Given the description of an element on the screen output the (x, y) to click on. 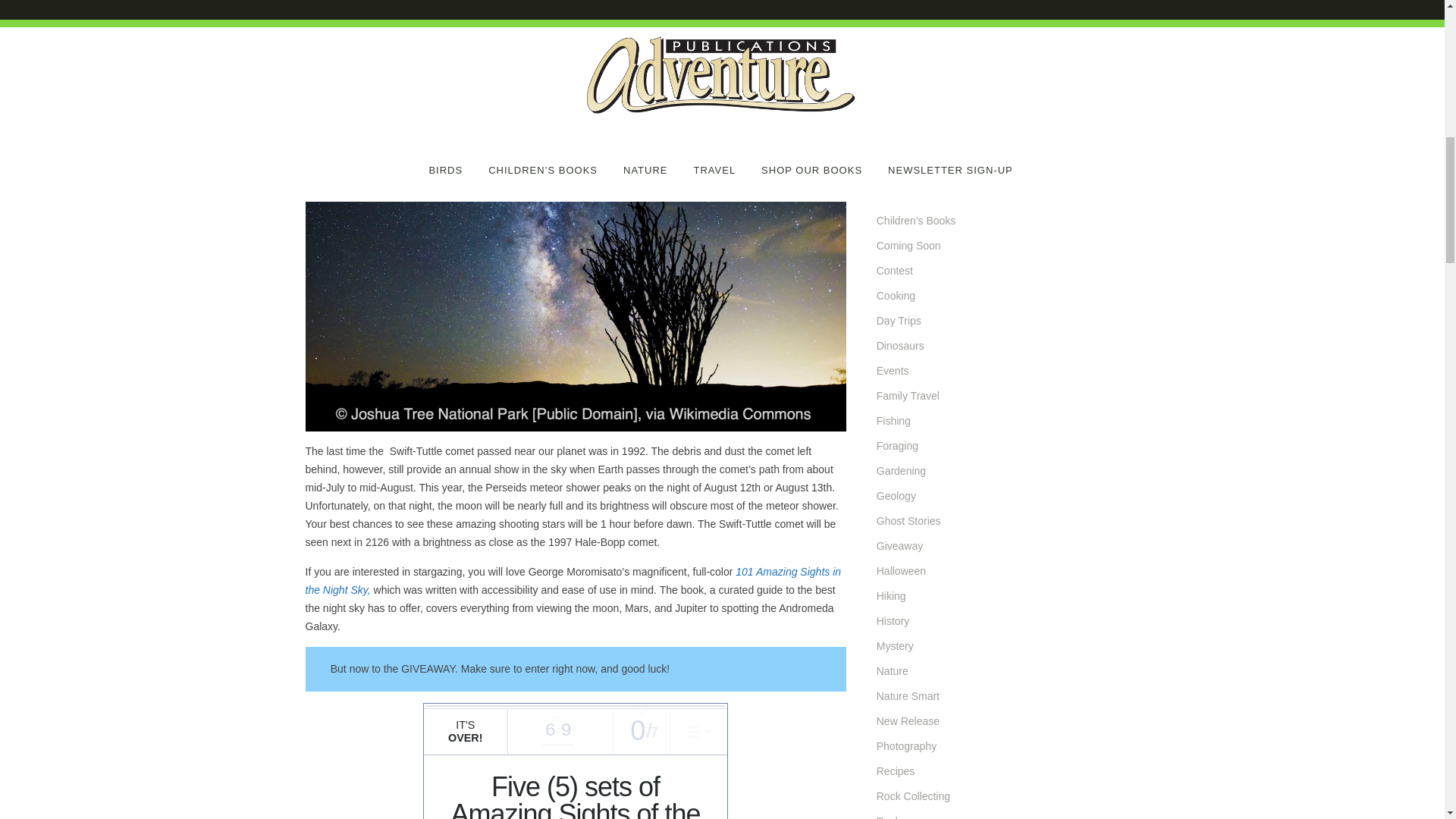
101 Amazing Sights in the Night Sky, (572, 580)
